Given the description of an element on the screen output the (x, y) to click on. 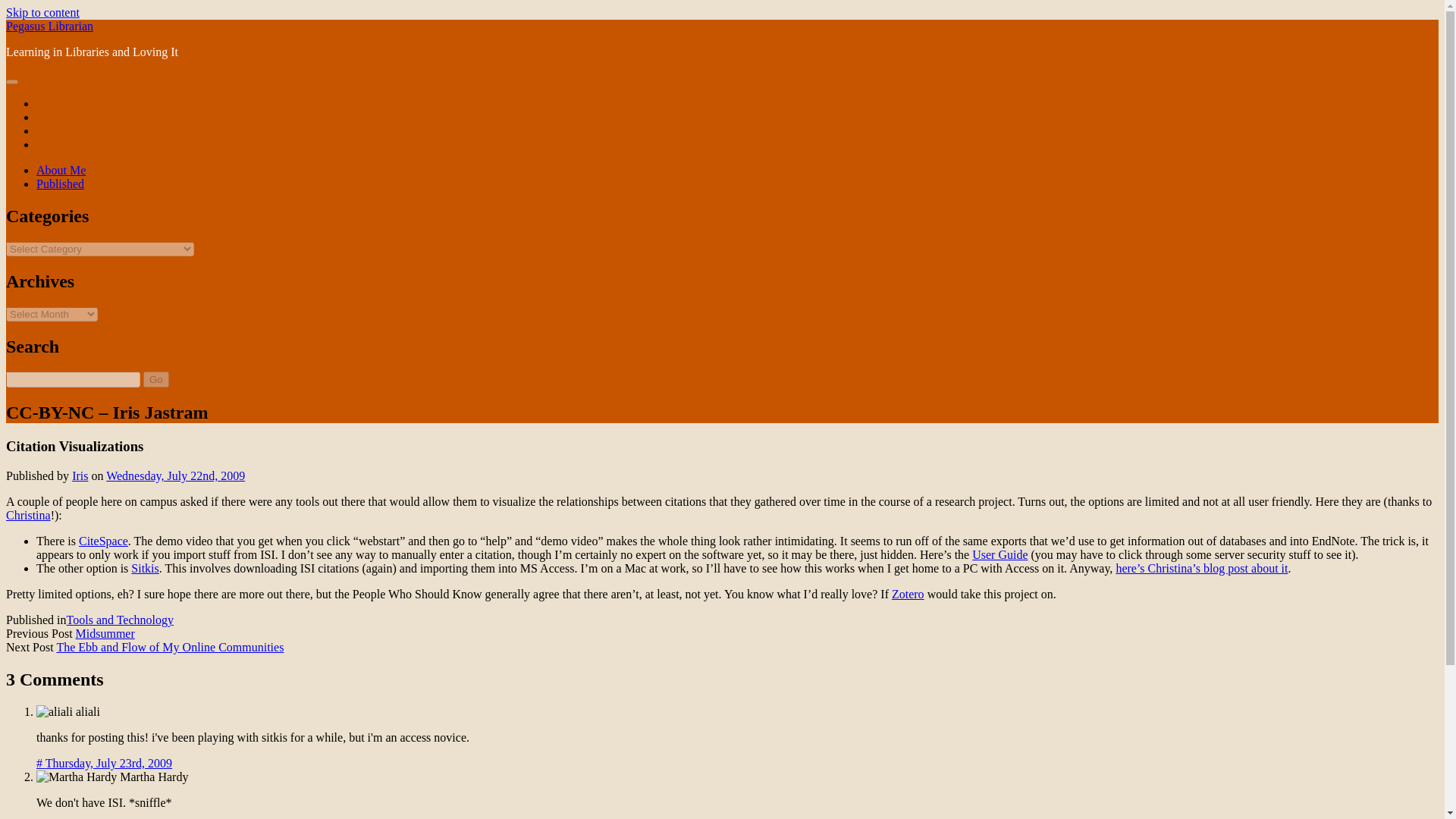
Skip to content (42, 11)
Midsummer (105, 633)
Go (155, 379)
User Guide (999, 554)
Christina (27, 514)
About Me (60, 169)
Pegasus Librarian (49, 25)
CiteSpace (103, 540)
Go (155, 379)
Tools and Technology (119, 619)
Go (155, 379)
The Ebb and Flow of My Online Communities (169, 646)
Sitkis (144, 567)
Search for: (72, 379)
open primary menu (11, 81)
